Given the description of an element on the screen output the (x, y) to click on. 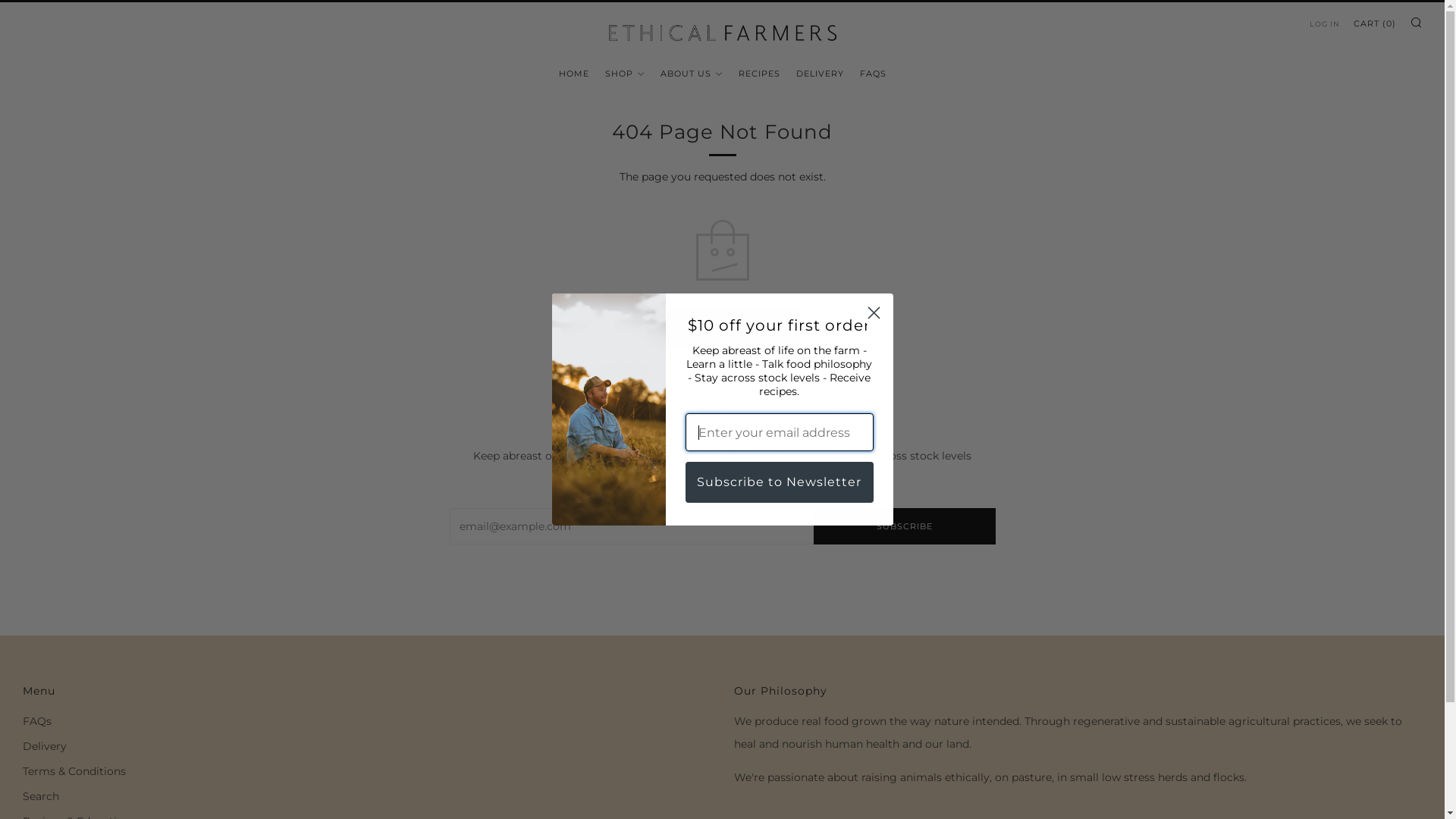
FAQs Element type: text (36, 721)
CONTINUE SHOPPING Element type: text (722, 327)
LOG IN Element type: text (1324, 24)
CART (0) Element type: text (1374, 23)
SUBSCRIBE Element type: text (903, 526)
FAQS Element type: text (872, 73)
Delivery Element type: text (44, 746)
ABOUT US Element type: text (690, 73)
Terms & Conditions Element type: text (73, 771)
SEARCH Element type: text (1415, 22)
DELIVERY Element type: text (820, 73)
Subscribe to Newsletter Element type: text (779, 481)
HOME Element type: text (573, 73)
RECIPES Element type: text (759, 73)
SHOP Element type: text (624, 73)
Submit Element type: text (23, 7)
Search Element type: text (40, 796)
